Given the description of an element on the screen output the (x, y) to click on. 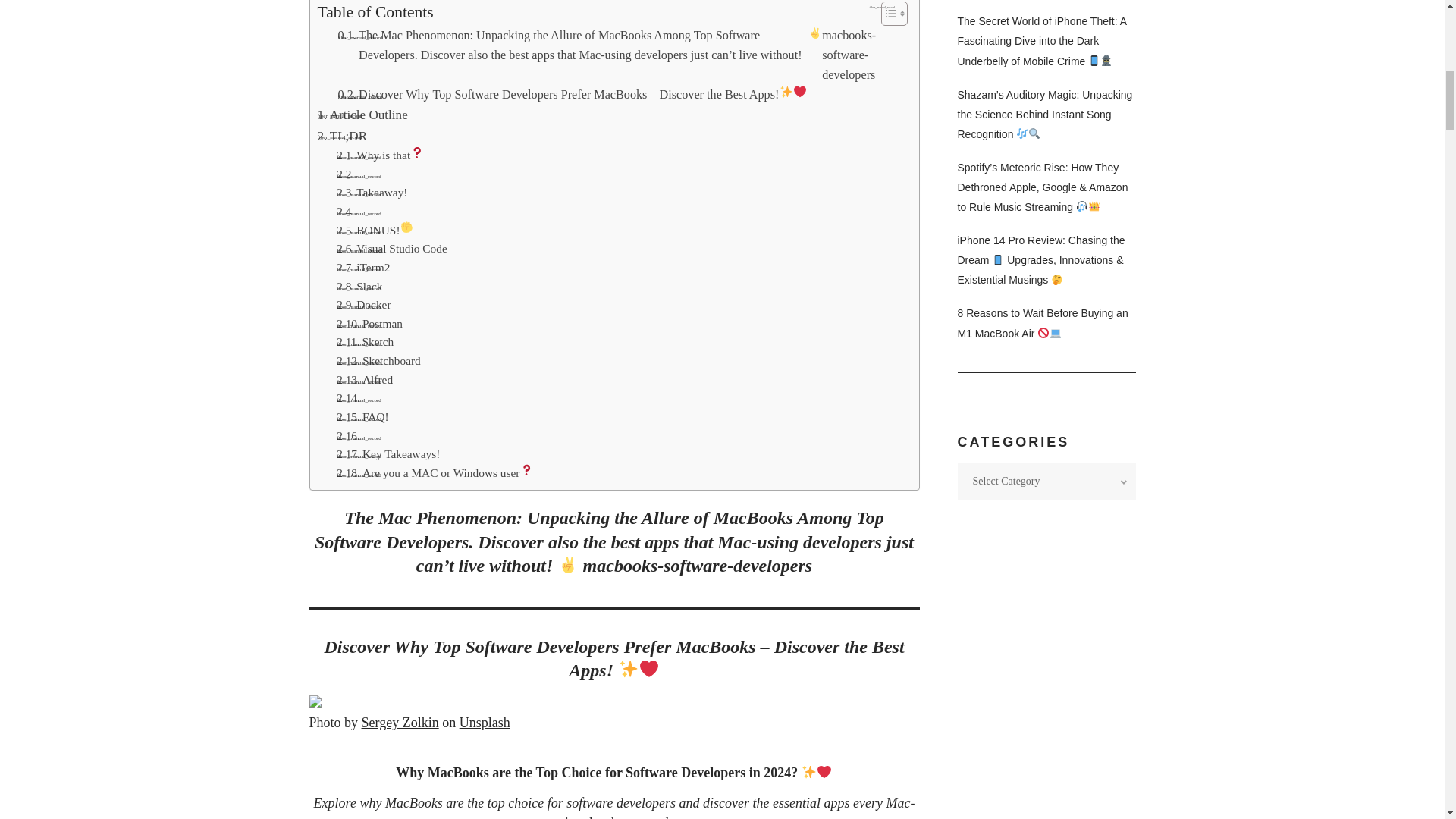
Takeaway! (371, 192)
Visual Studio Code (391, 248)
TL;DR (341, 136)
FAQ! (362, 416)
BONUS! (374, 230)
Postman (369, 323)
Alfred (364, 380)
Article Outline (362, 114)
Why is that (379, 155)
TL;DR (341, 136)
